Given the description of an element on the screen output the (x, y) to click on. 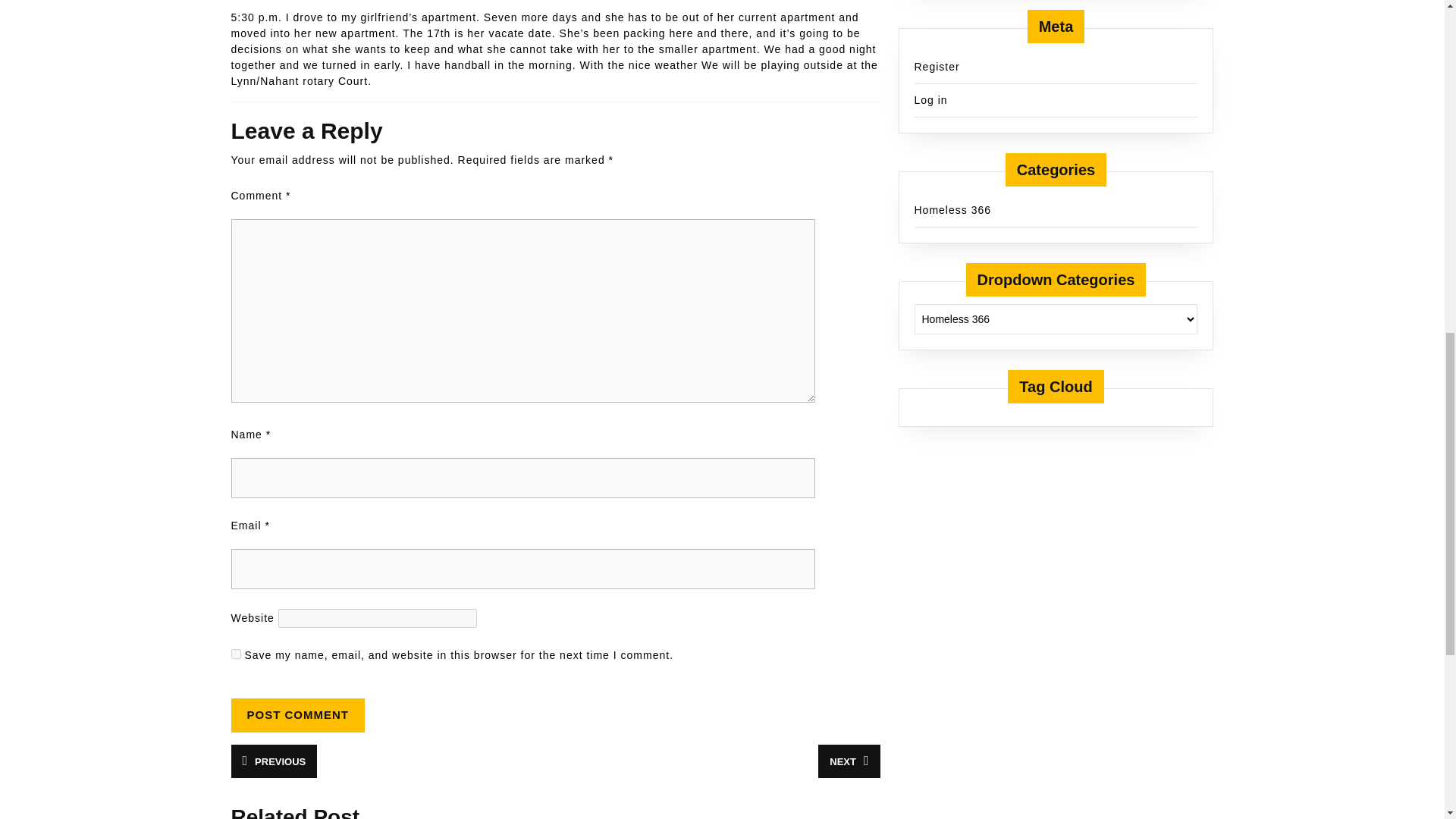
Register (936, 66)
Homeless 366 (848, 761)
Log in (952, 209)
Post Comment (930, 100)
Post Comment (273, 761)
yes (297, 715)
